Given the description of an element on the screen output the (x, y) to click on. 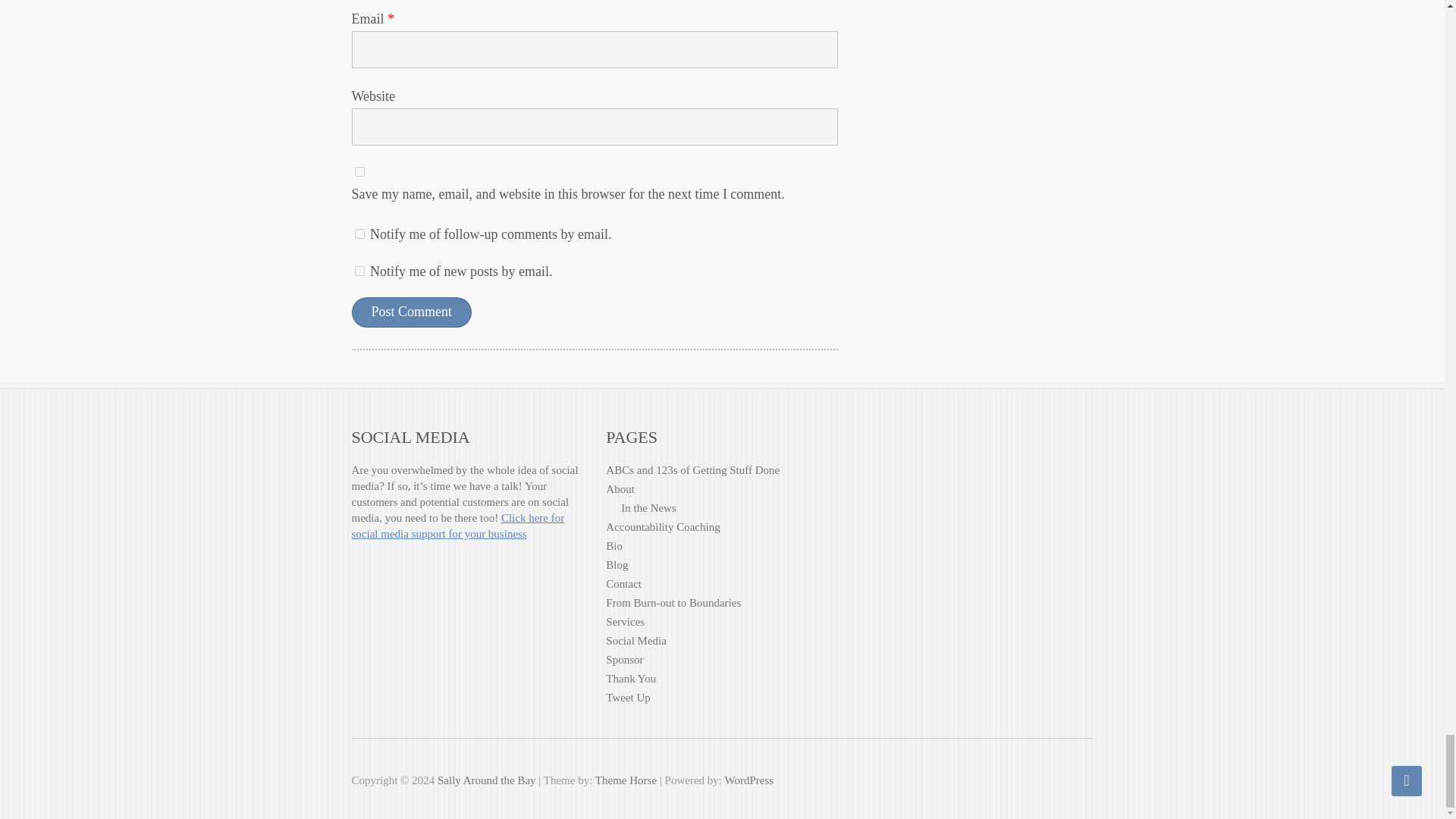
yes (360, 171)
subscribe (360, 271)
subscribe (360, 234)
Post Comment (411, 312)
